Given the description of an element on the screen output the (x, y) to click on. 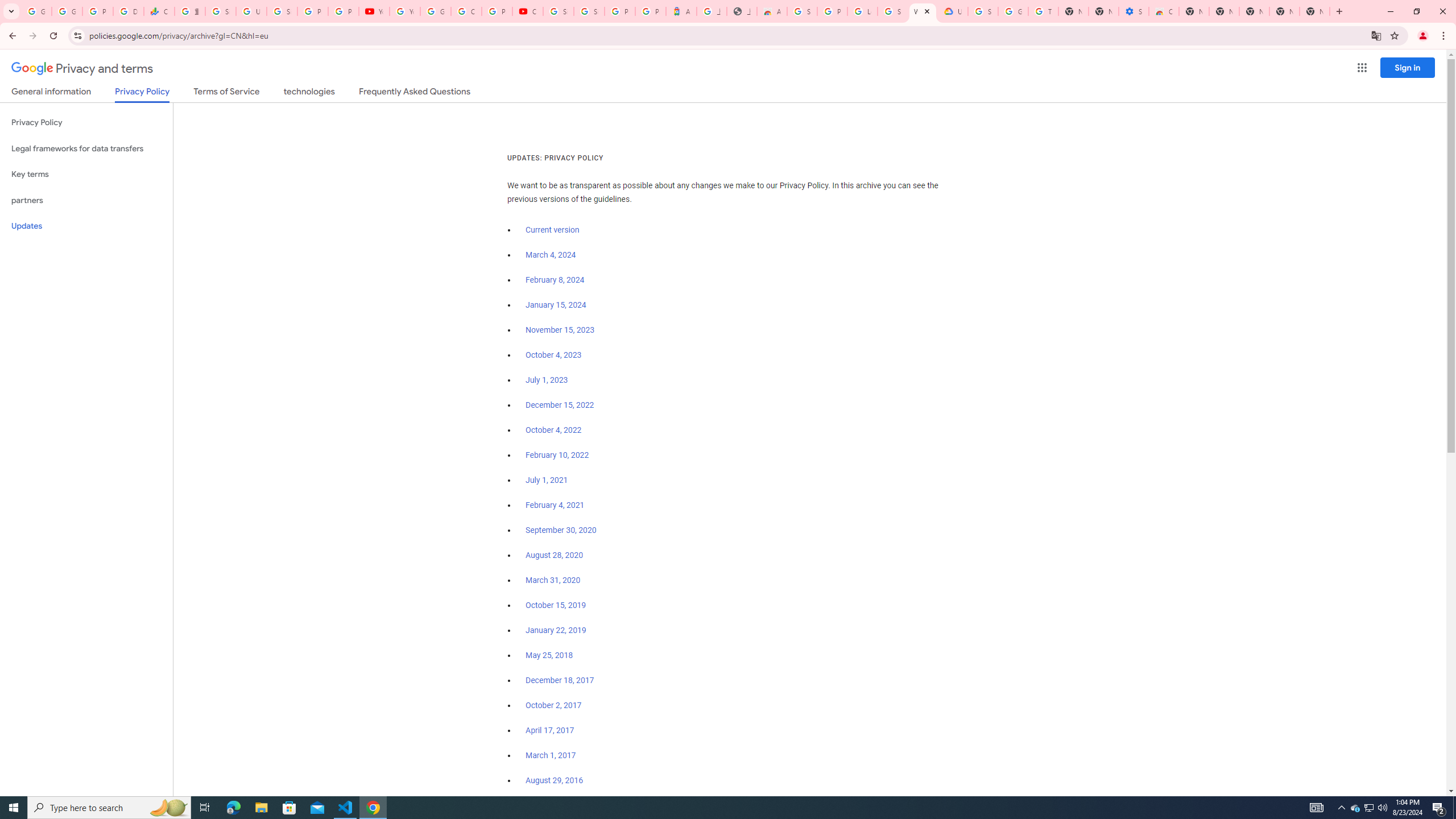
Google Account Help (1012, 11)
Terms of Service (226, 93)
February 8, 2024 (555, 280)
August 28, 2020 (553, 555)
February 10, 2022 (557, 455)
Create your Google Account (465, 11)
Sign in - Google Accounts (982, 11)
May 25, 2018 (549, 655)
Sign in - Google Accounts (589, 11)
General information (51, 93)
New Tab (1254, 11)
New Tab (1314, 11)
